Given the description of an element on the screen output the (x, y) to click on. 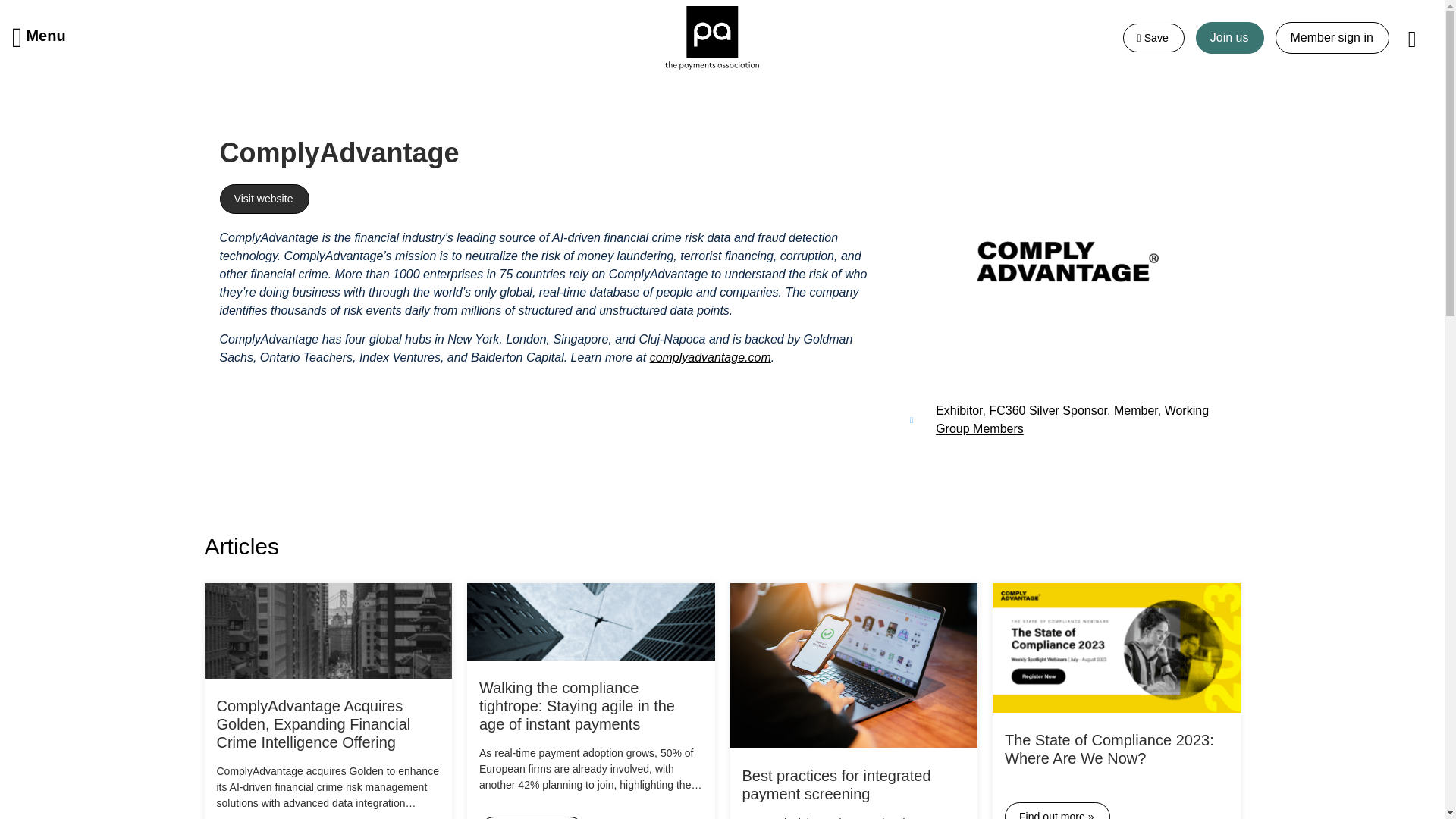
Join us (1230, 37)
complyadvantage.com (710, 357)
Working Group Members (1072, 419)
FC360 Silver Sponsor (1047, 410)
Exhibitor (958, 410)
Menu (39, 37)
Member (1135, 410)
Member sign in (1332, 37)
Save (1153, 38)
Visit website (263, 198)
